Given the description of an element on the screen output the (x, y) to click on. 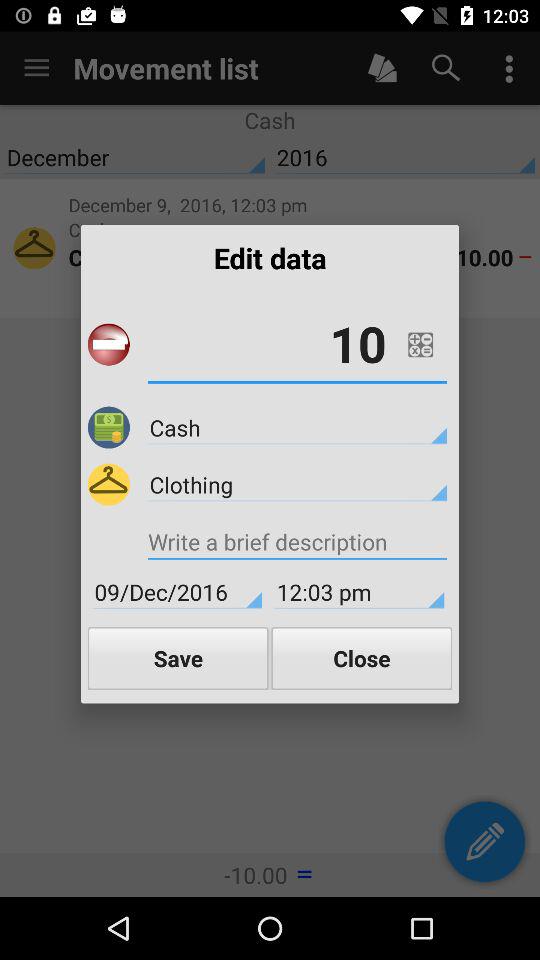
select description input (297, 544)
